Given the description of an element on the screen output the (x, y) to click on. 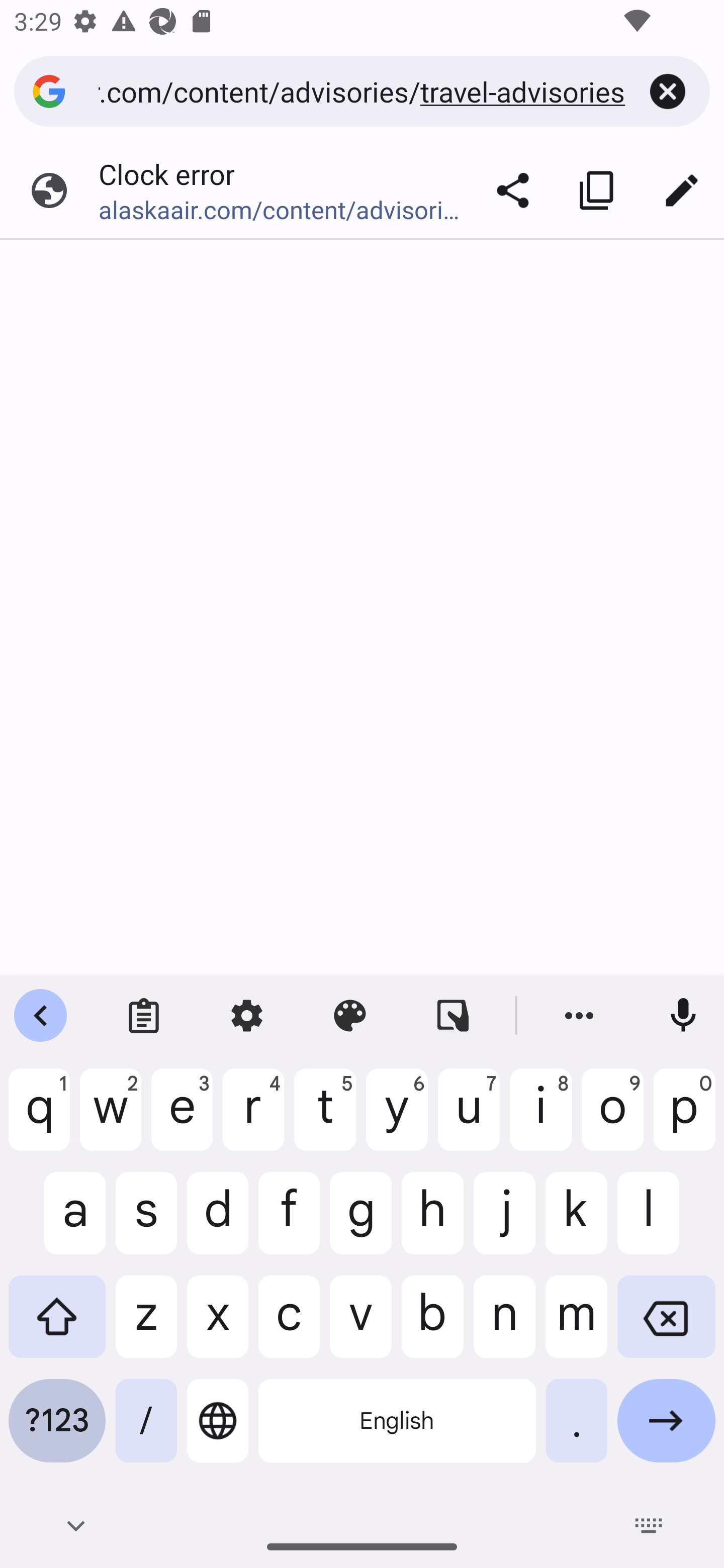
Clear input (667, 91)
Share… (512, 190)
Copy link (597, 190)
Edit (681, 190)
